Given the description of an element on the screen output the (x, y) to click on. 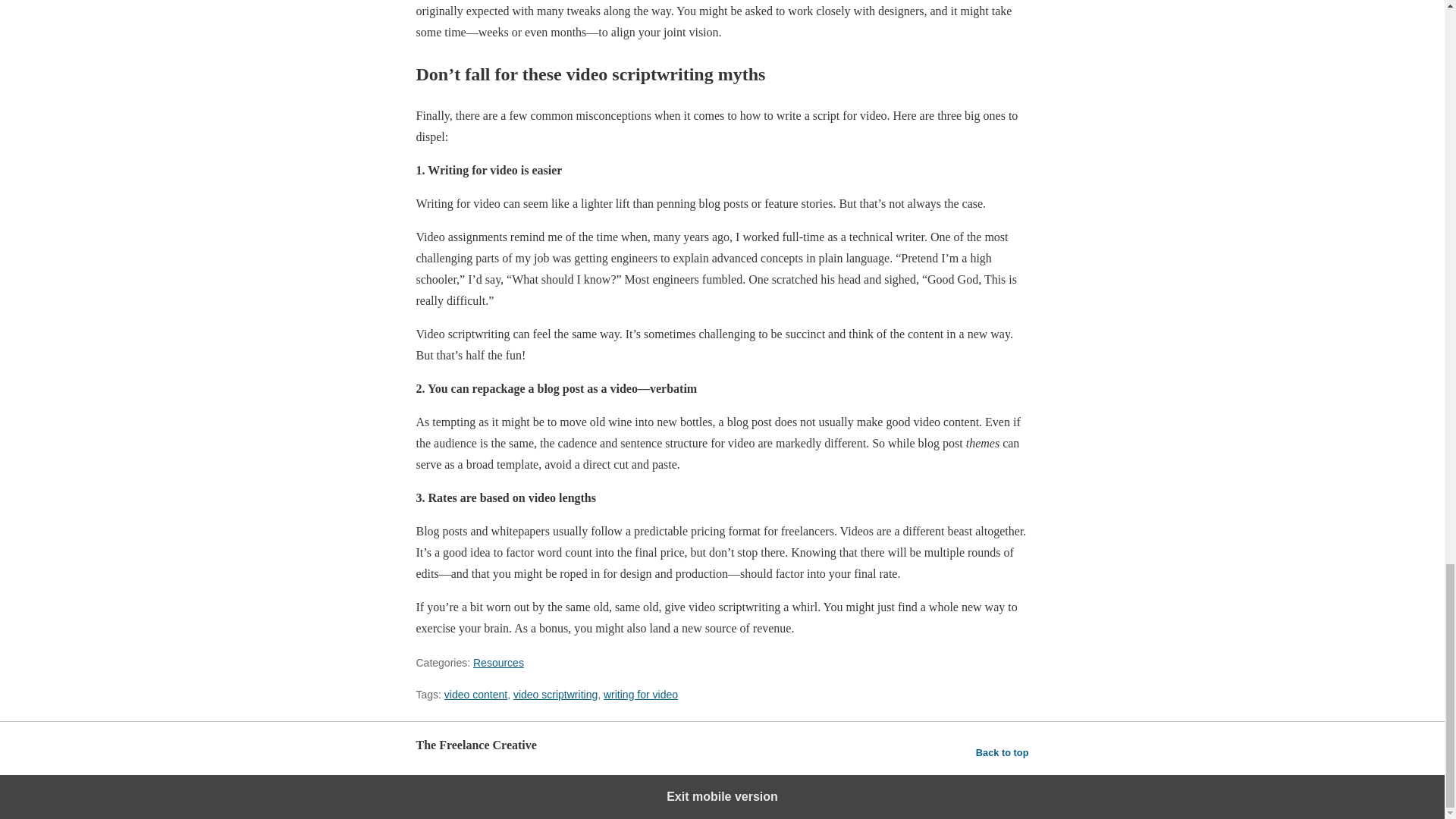
Back to top (1002, 752)
Resources (498, 662)
writing for video (641, 694)
video scriptwriting (554, 694)
video content (475, 694)
